Given the description of an element on the screen output the (x, y) to click on. 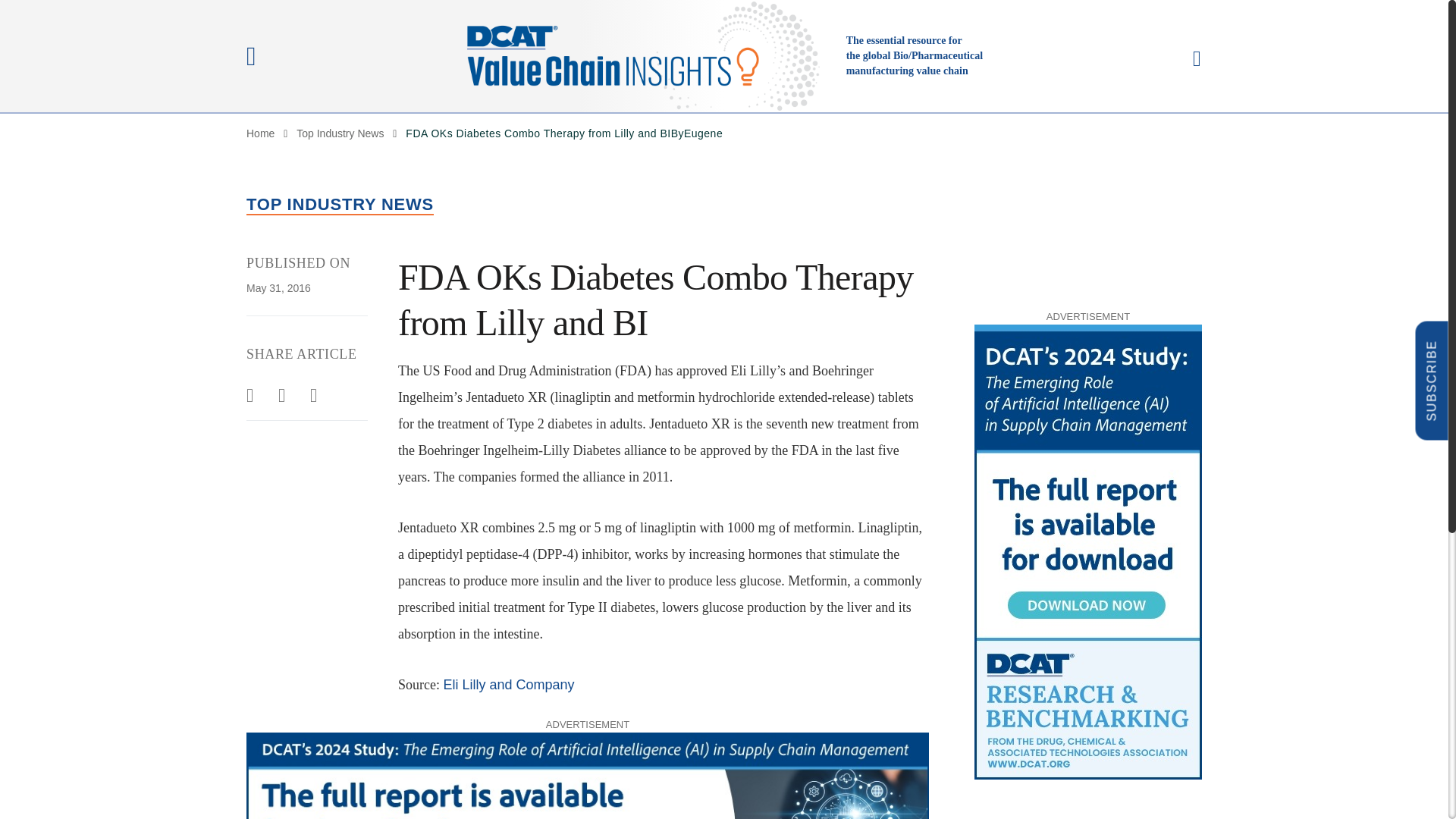
TOP INDUSTRY NEWS (339, 204)
Top Industry News (340, 133)
Home (260, 133)
Eli Lilly and Company (507, 684)
